Given the description of an element on the screen output the (x, y) to click on. 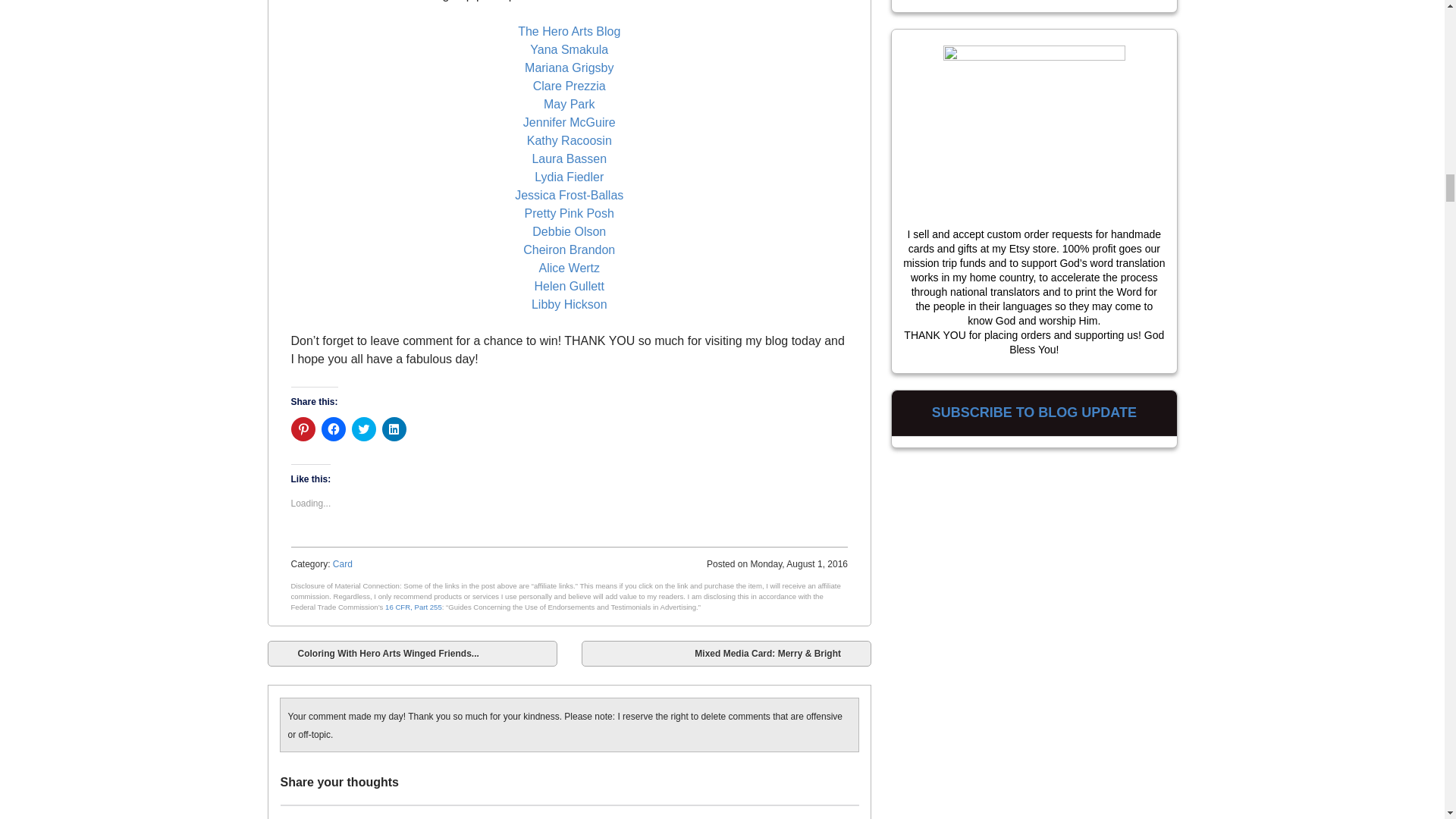
Click to share on Pinterest (303, 428)
Click to share on LinkedIn (393, 428)
Comment Form (570, 811)
Click to share on Twitter (363, 428)
Click to share on Facebook (333, 428)
